Given the description of an element on the screen output the (x, y) to click on. 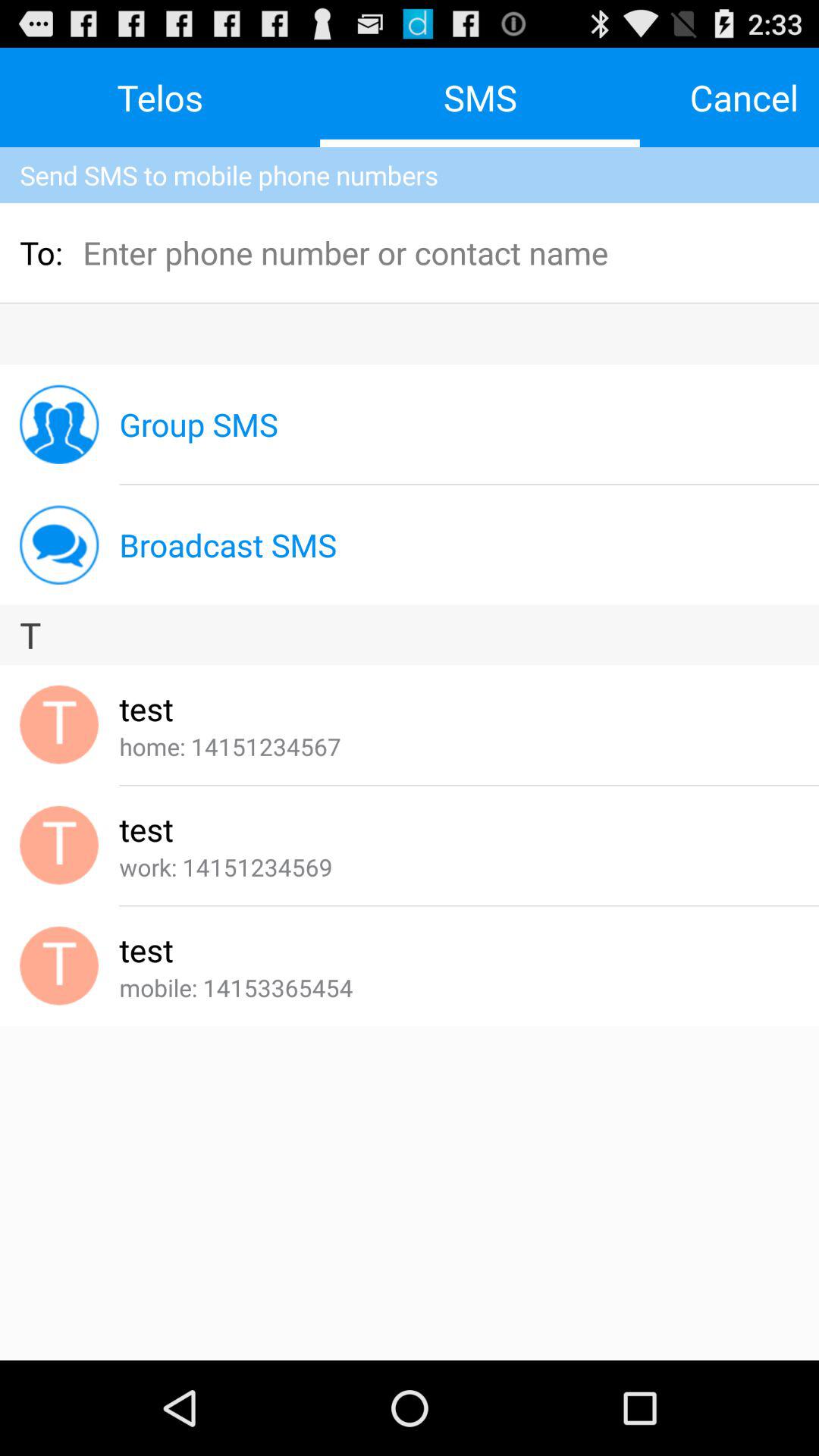
scroll until cancel item (743, 97)
